Given the description of an element on the screen output the (x, y) to click on. 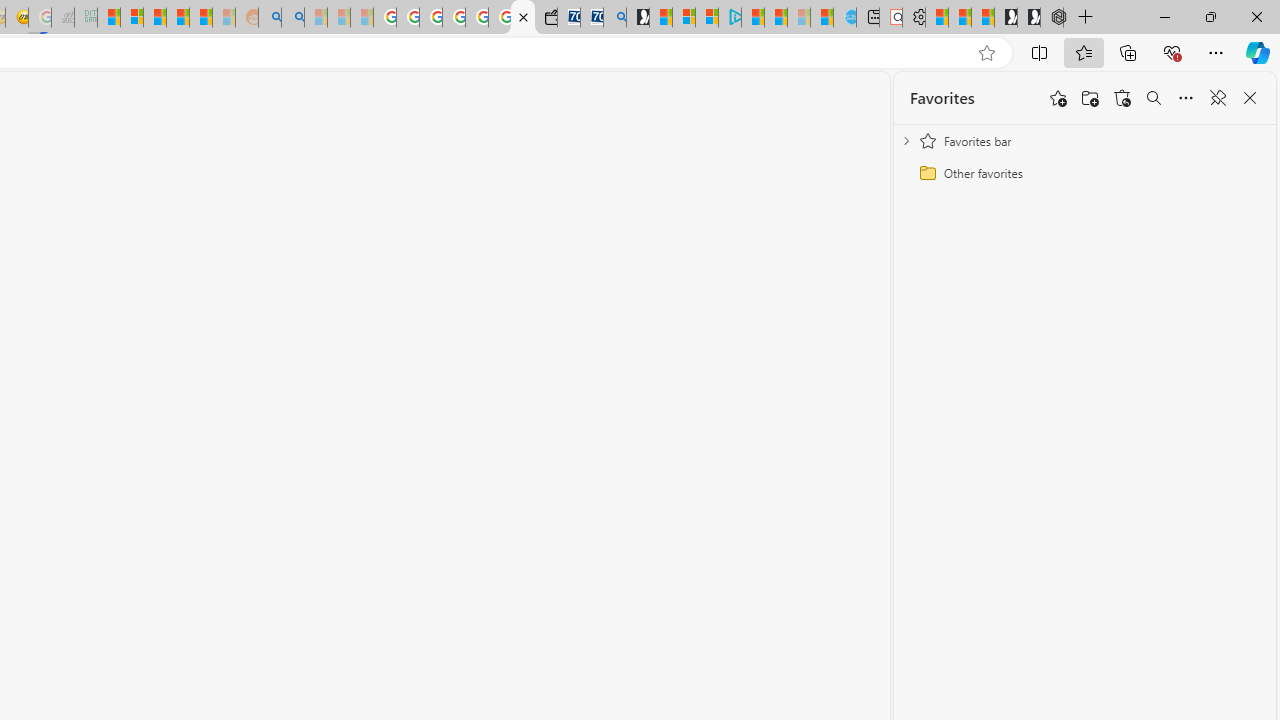
Restore deleted favorites (1122, 98)
Cheap Car Rentals - Save70.com (591, 17)
Unpin favorites (1217, 98)
Nordace - Nordace Siena Is Not An Ordinary Backpack (1051, 17)
